Given the description of an element on the screen output the (x, y) to click on. 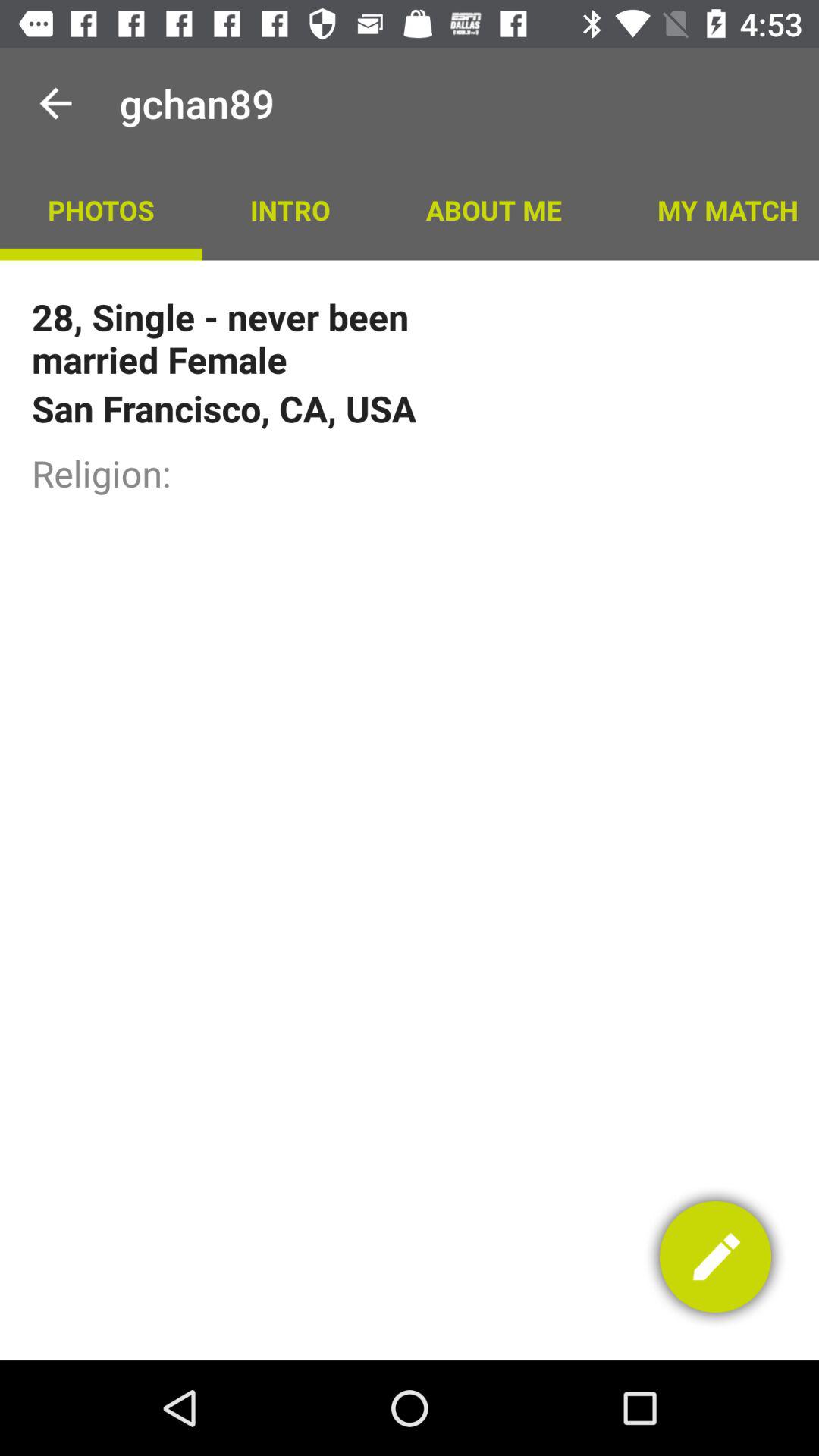
launch the icon above the 28 single never (493, 209)
